Given the description of an element on the screen output the (x, y) to click on. 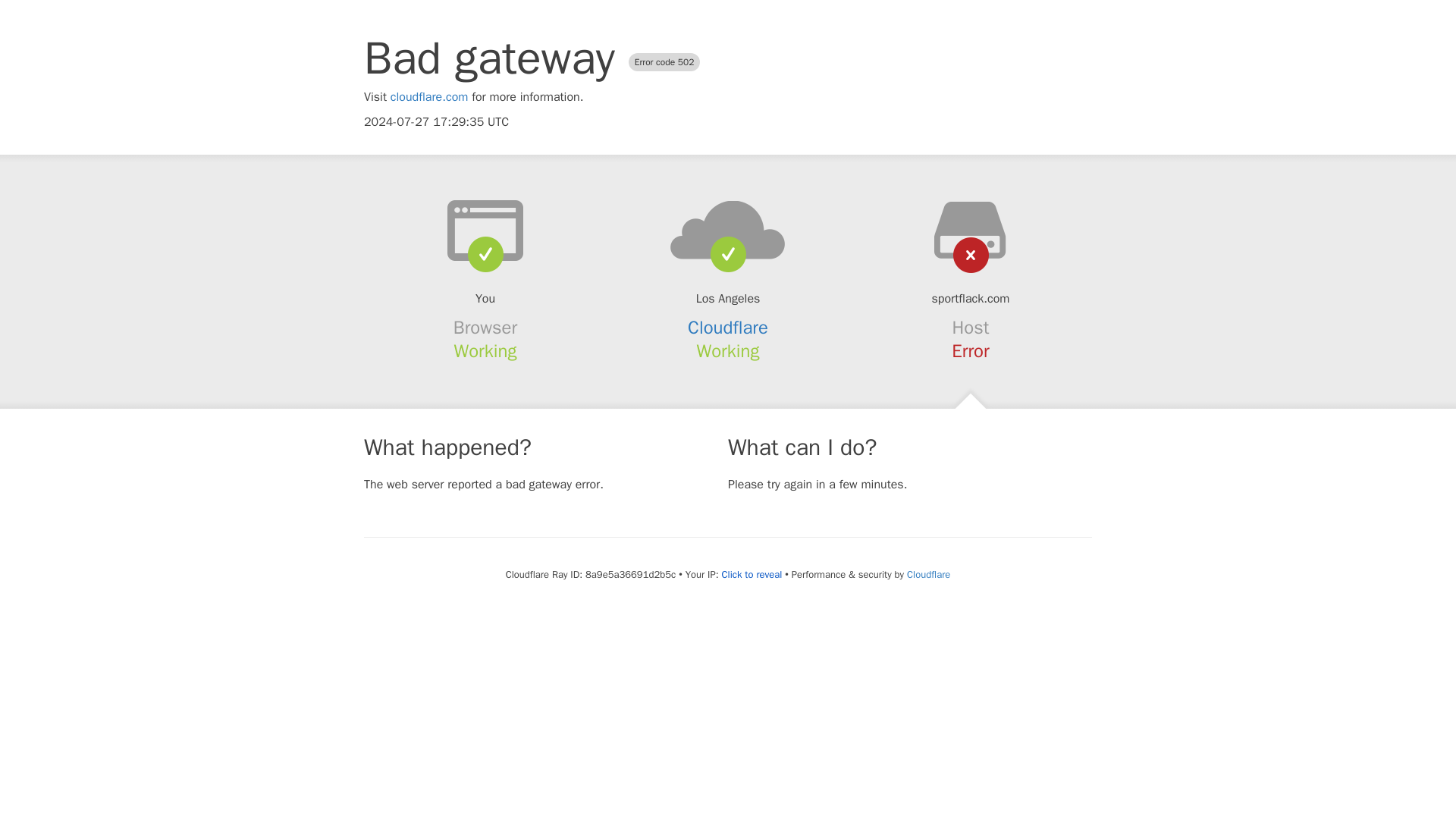
Cloudflare (727, 327)
Click to reveal (750, 574)
Cloudflare (928, 574)
cloudflare.com (429, 96)
